Given the description of an element on the screen output the (x, y) to click on. 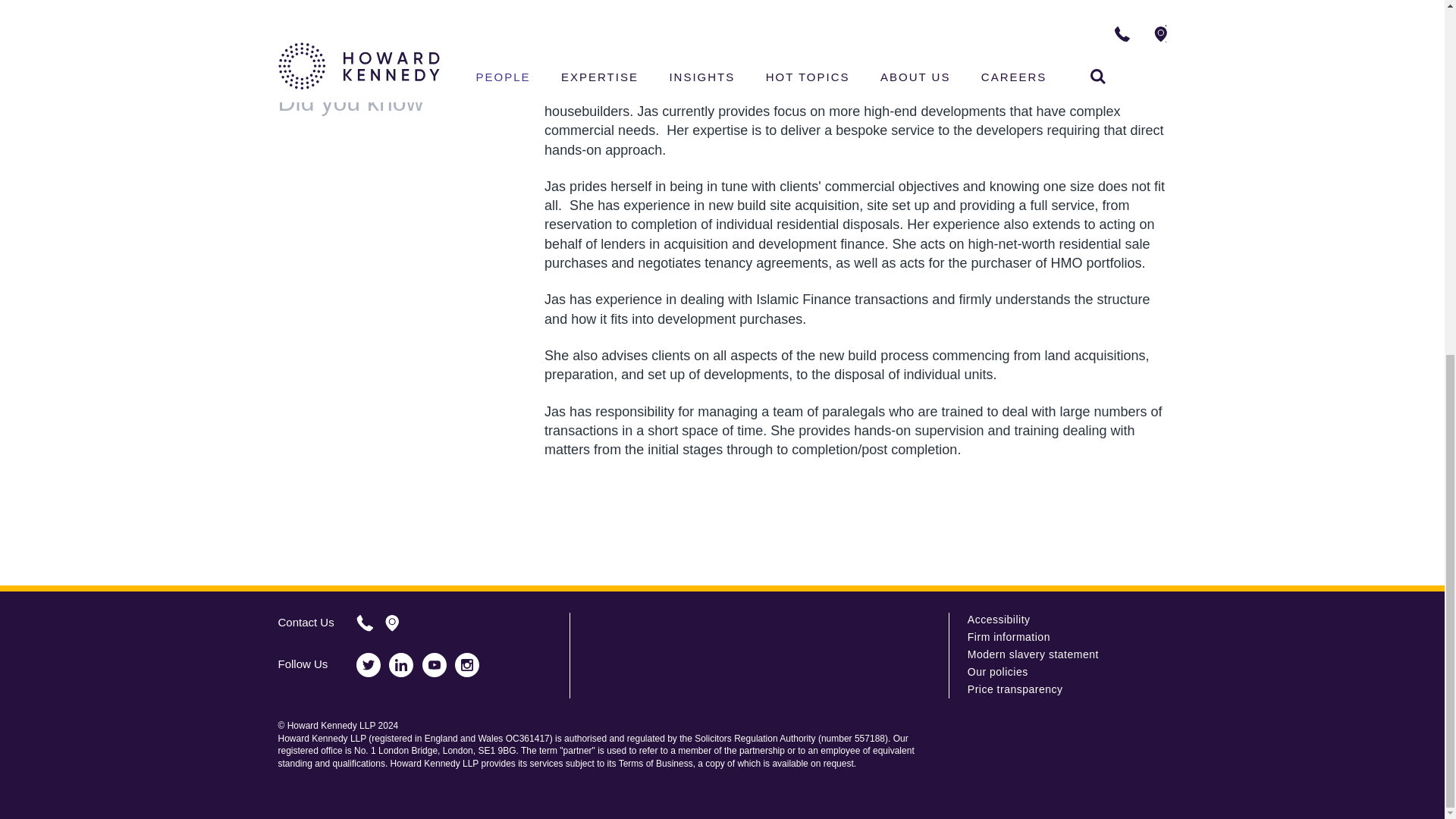
Solicitors Regulation Authority validation logo (1015, 758)
